Given the description of an element on the screen output the (x, y) to click on. 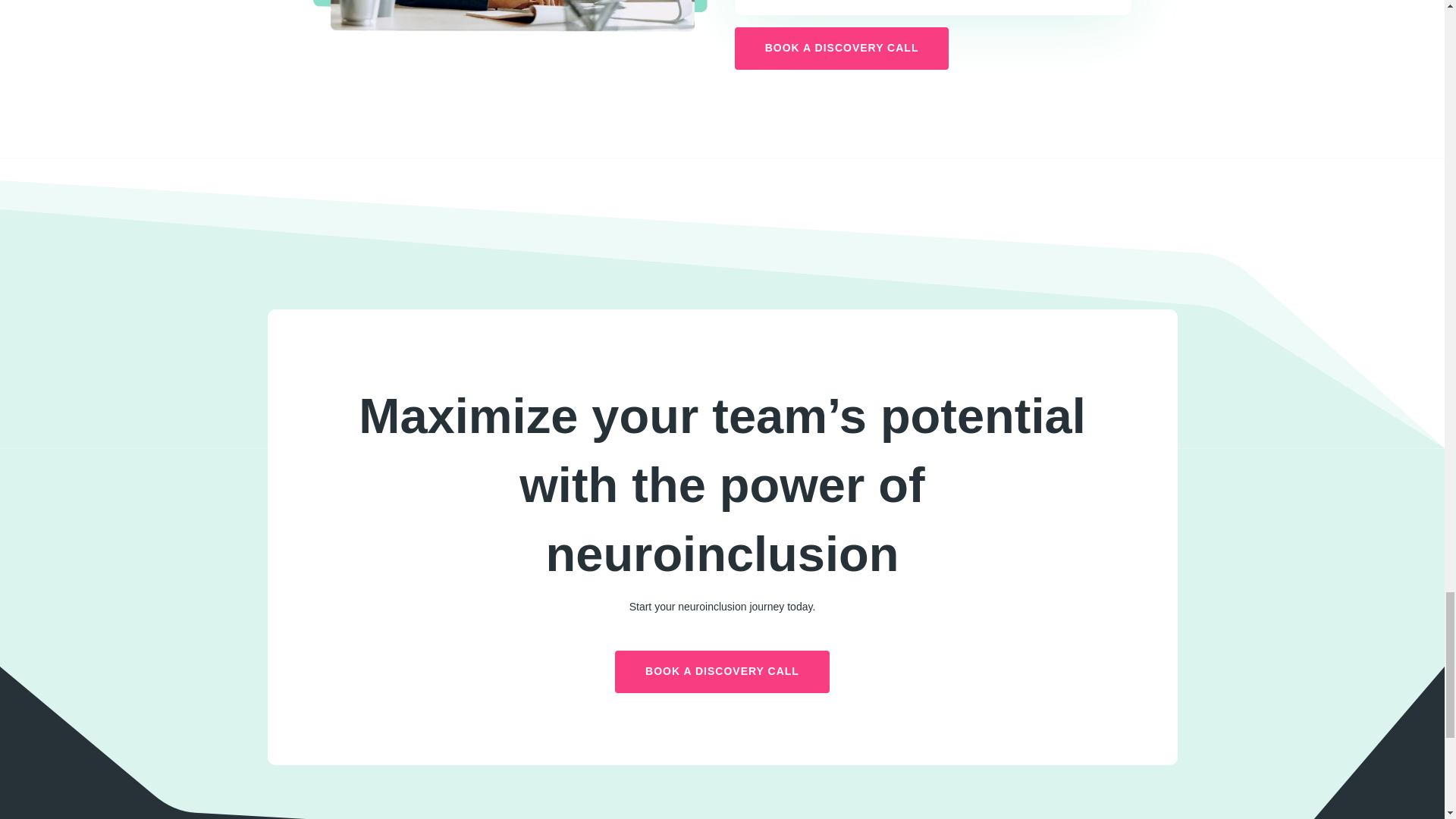
Easy to Deploy Manage (511, 15)
